Given the description of an element on the screen output the (x, y) to click on. 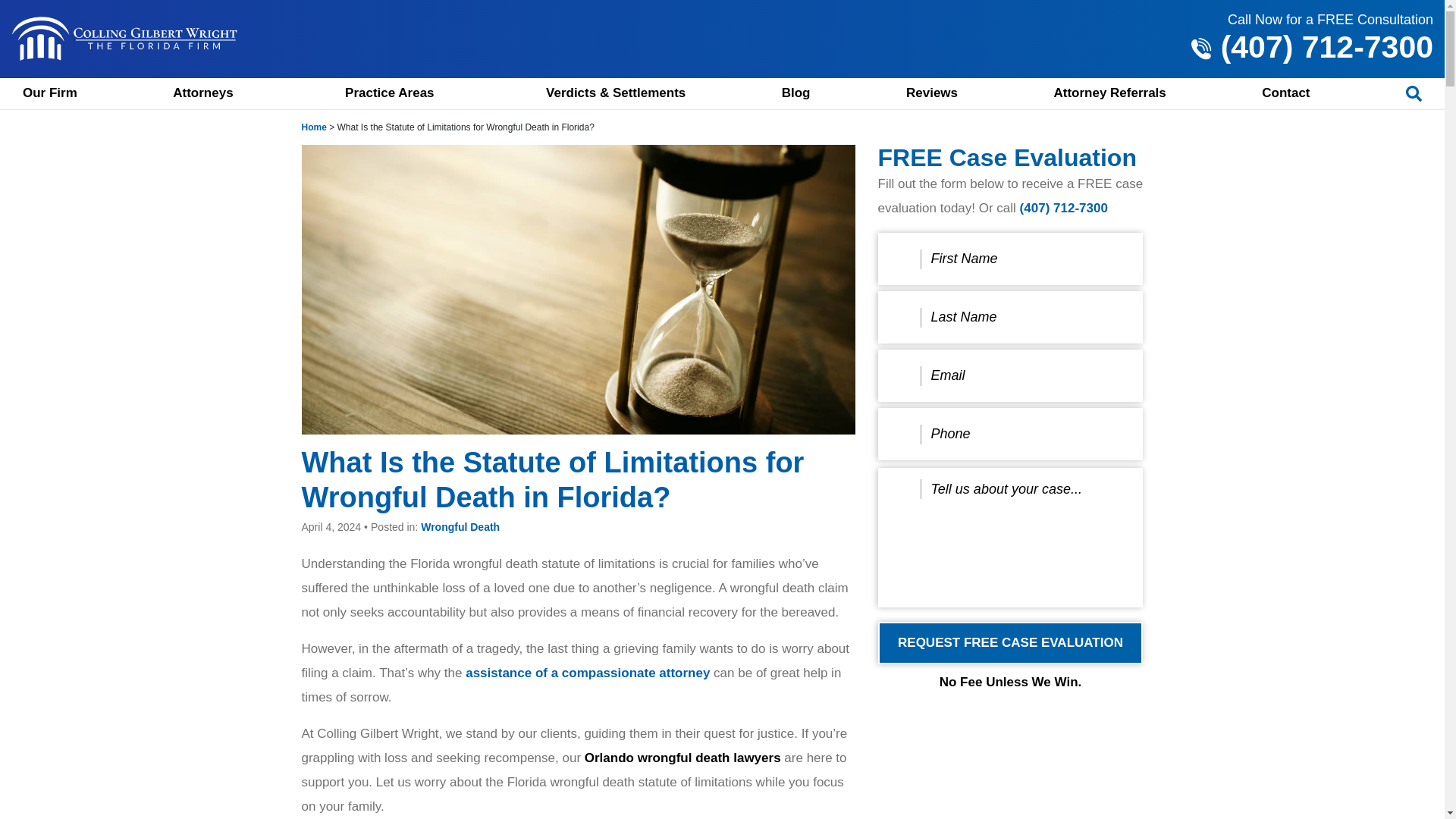
Practice Areas (397, 92)
View all posts in Wrongful Death (459, 526)
Request Free Case Evaluation (1009, 642)
Our Firm (49, 92)
Attorneys (210, 92)
